Given the description of an element on the screen output the (x, y) to click on. 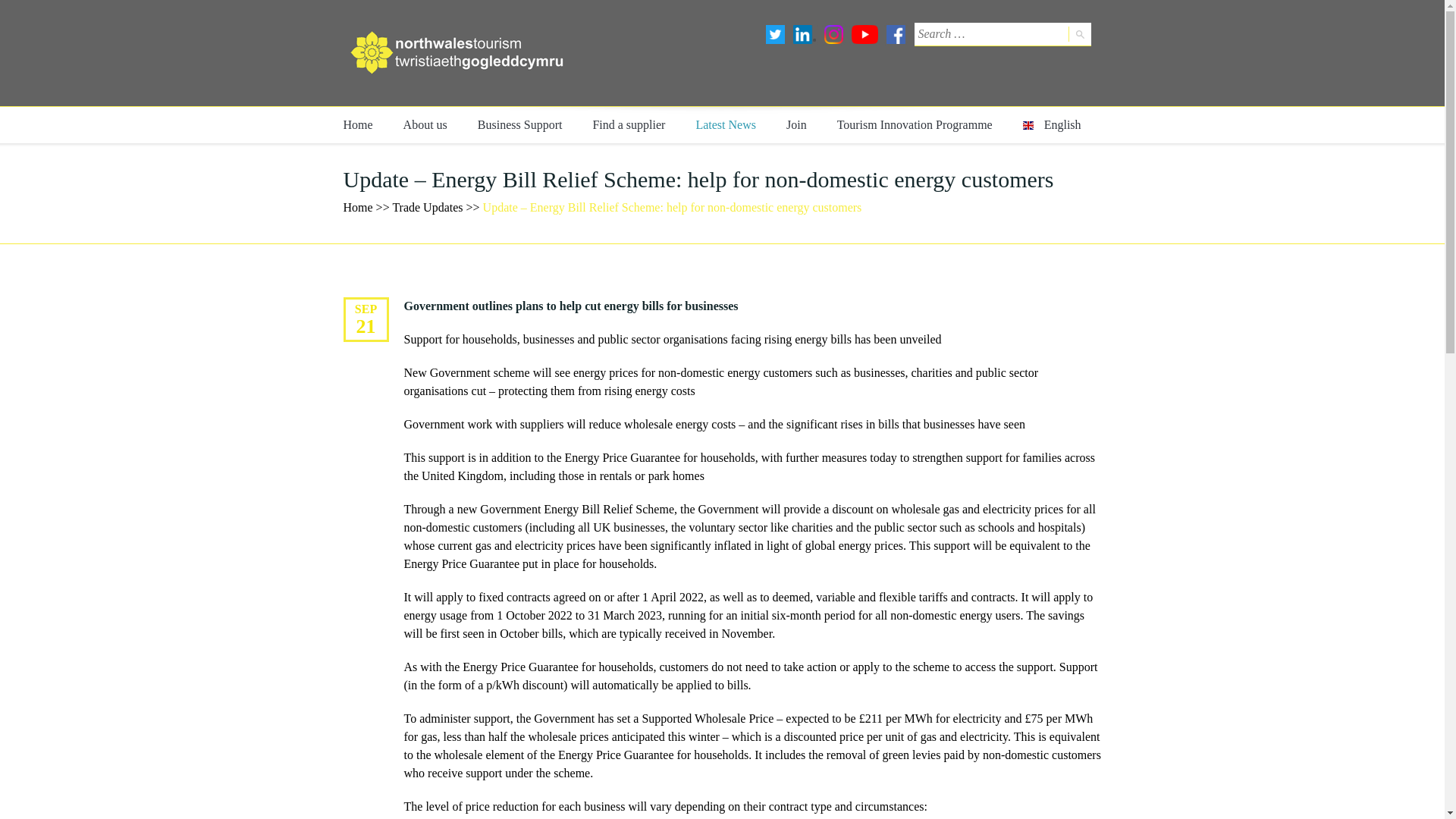
About us (425, 125)
Link to monthly archives: September 2022 (366, 307)
Home (357, 125)
Search (1078, 33)
North Wales Tourism (357, 206)
North Wales Tourism (456, 52)
Business Support (520, 125)
Search for: (989, 33)
Trade Updates (427, 206)
Link to daily archives: 21st September 2022 (366, 326)
